Given the description of an element on the screen output the (x, y) to click on. 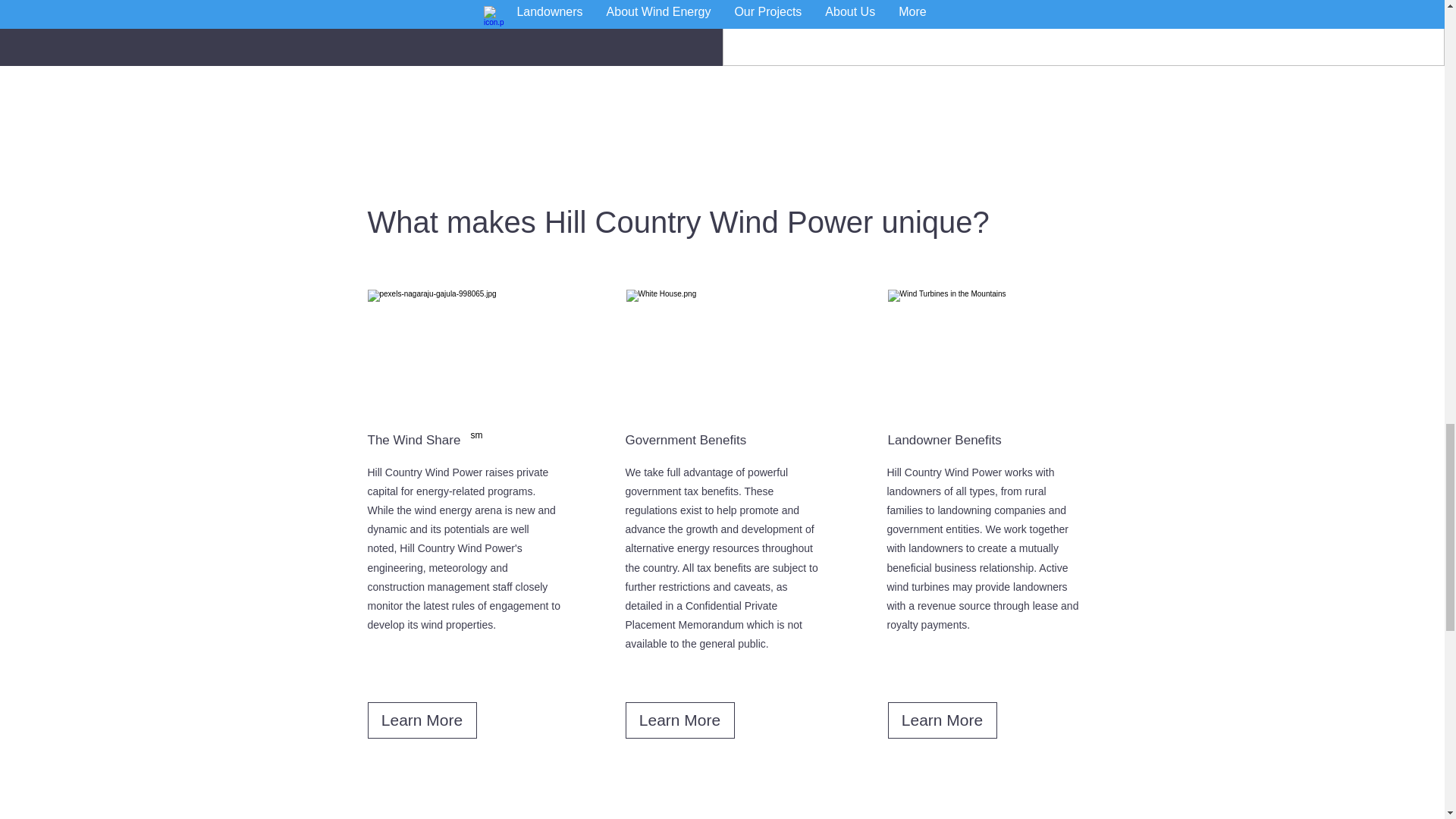
Learn More (421, 719)
Learn More (940, 719)
Learn More (678, 719)
